Given the description of an element on the screen output the (x, y) to click on. 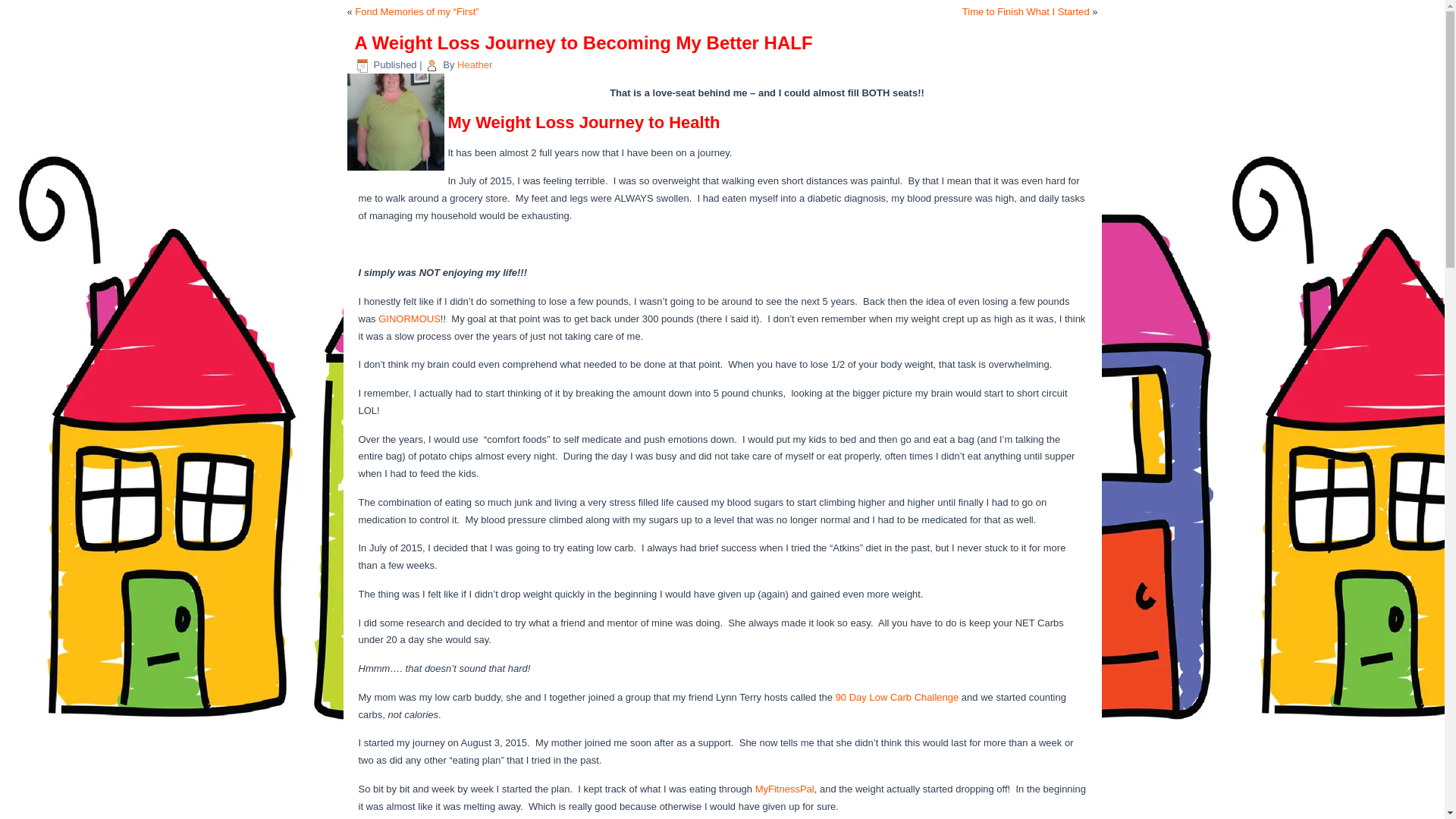
Time to Finish What I Started (1025, 11)
GINORMOUS (409, 318)
A Weight Loss Journey to Becoming My Better HALF (397, 170)
90 Day Low Carb Challenge (897, 696)
Time to Finish What I Started (1025, 11)
A Weight Loss Journey to Becoming My Better HALF (395, 121)
MyFitnessPal (784, 788)
Heather (474, 64)
View all posts by Heather (474, 64)
